Given the description of an element on the screen output the (x, y) to click on. 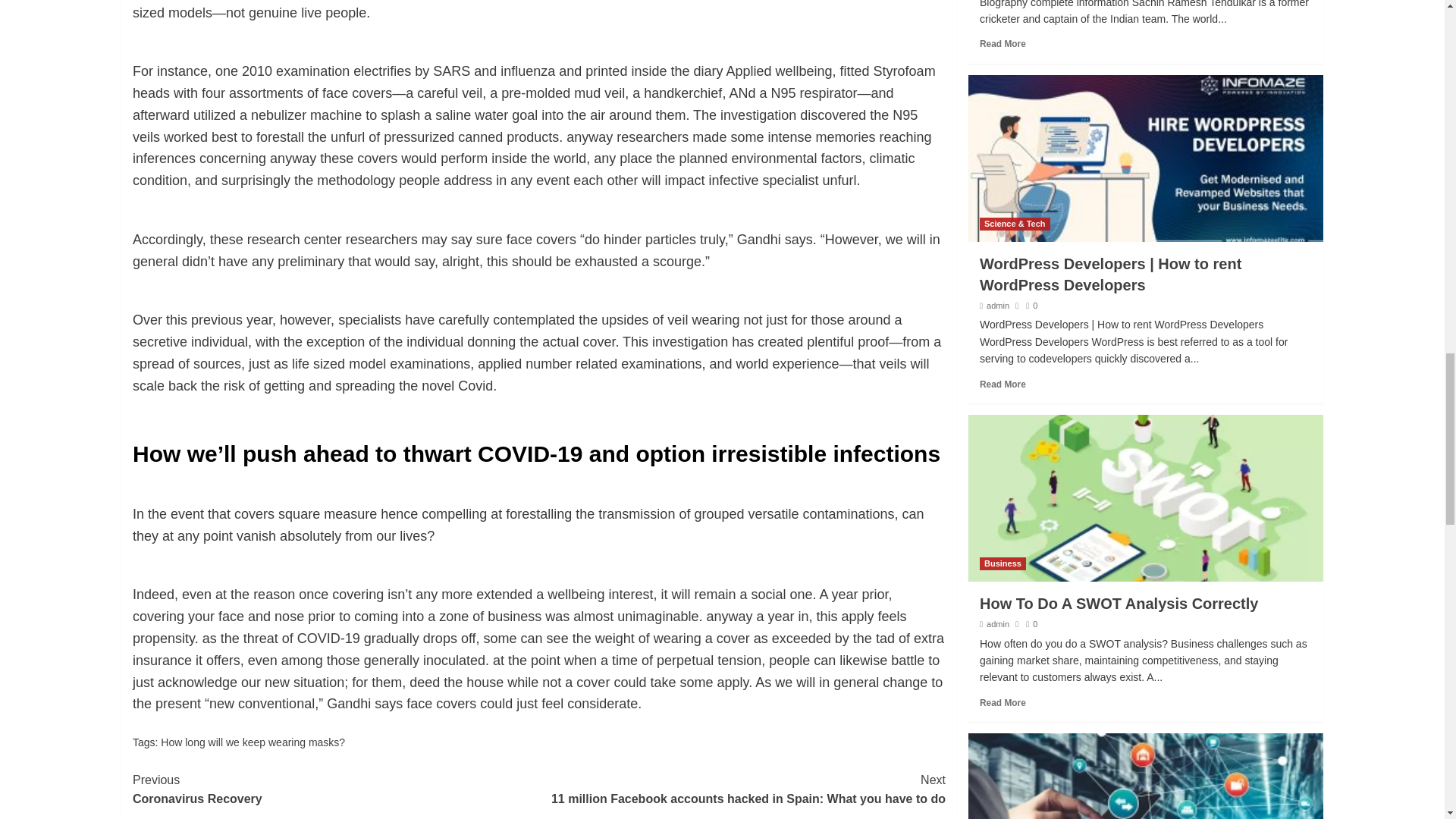
How long will we keep wearing masks? (335, 789)
